Given the description of an element on the screen output the (x, y) to click on. 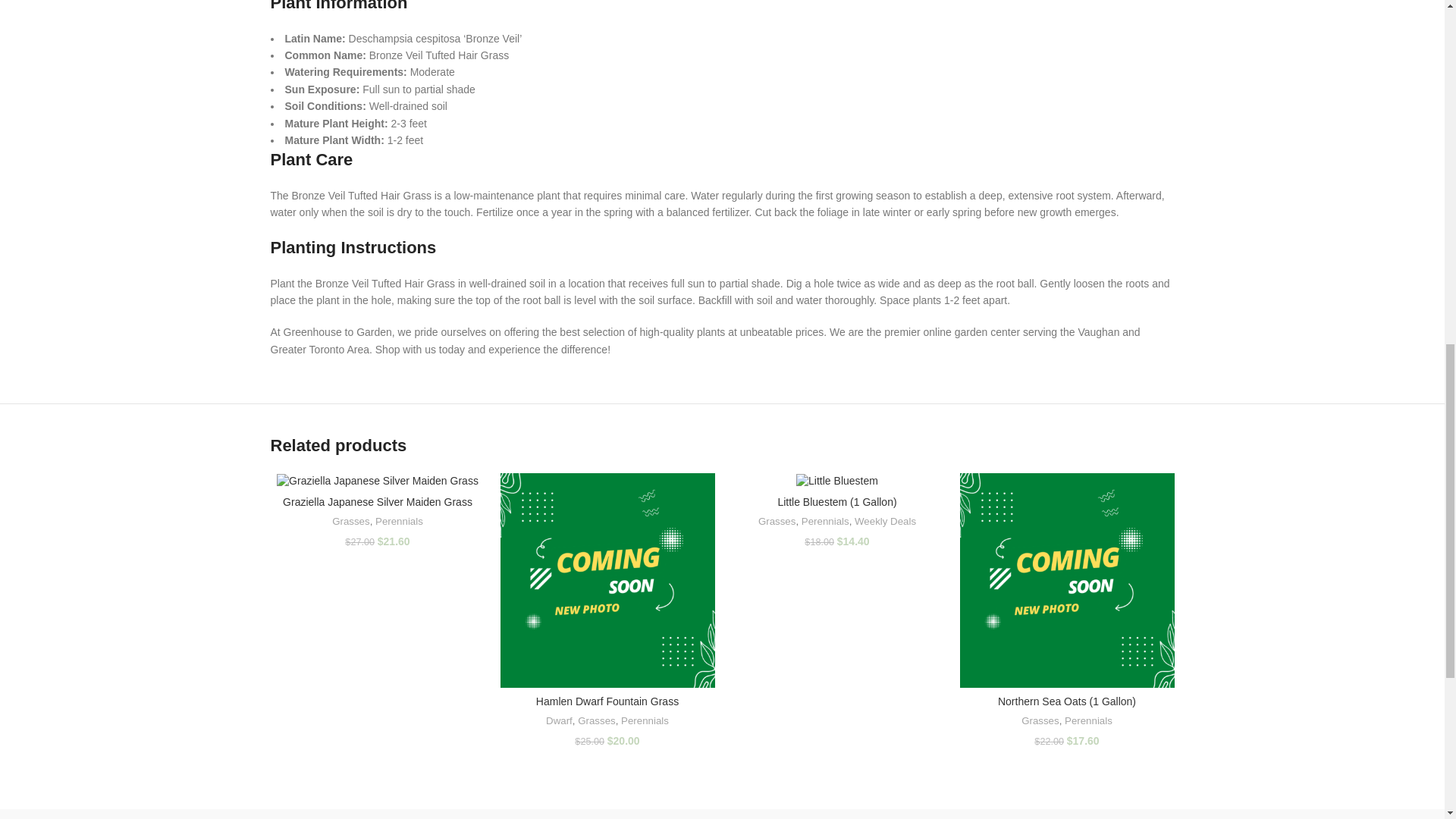
Magisso (463, 817)
Louis Poulsen (593, 817)
Joseph Joseph (851, 817)
Vitra (333, 817)
